Given the description of an element on the screen output the (x, y) to click on. 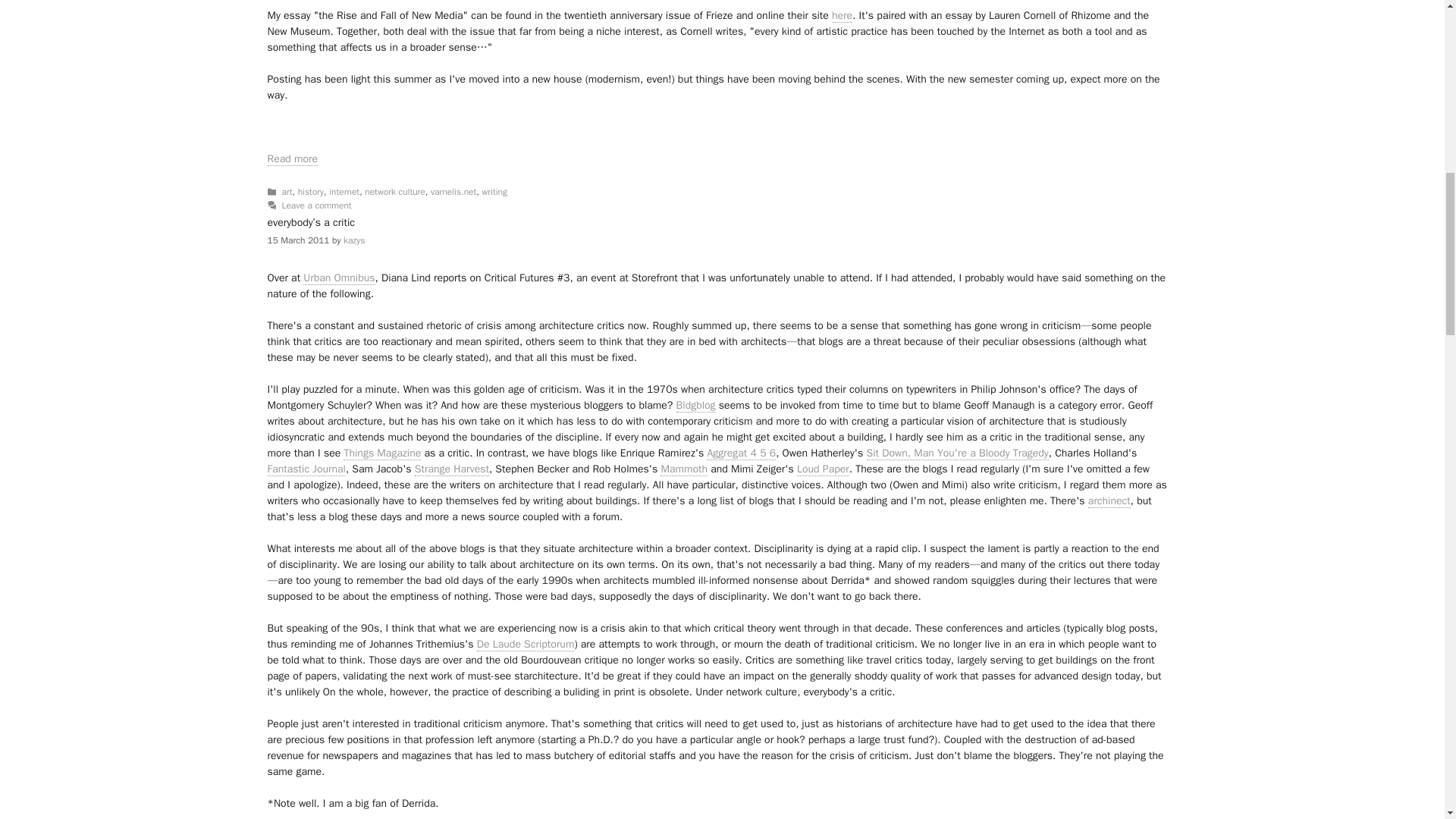
history (310, 192)
Bldgblog (696, 405)
View all posts by kazys (354, 240)
Sit Down, Man You're a Bloody Tragedy (957, 453)
internet (344, 192)
Aggregat 4 5 6 (741, 453)
varnelis.net (453, 192)
writing (493, 192)
The Rise and Fall of New Media (291, 159)
Urban Omnibus (338, 278)
